Given the description of an element on the screen output the (x, y) to click on. 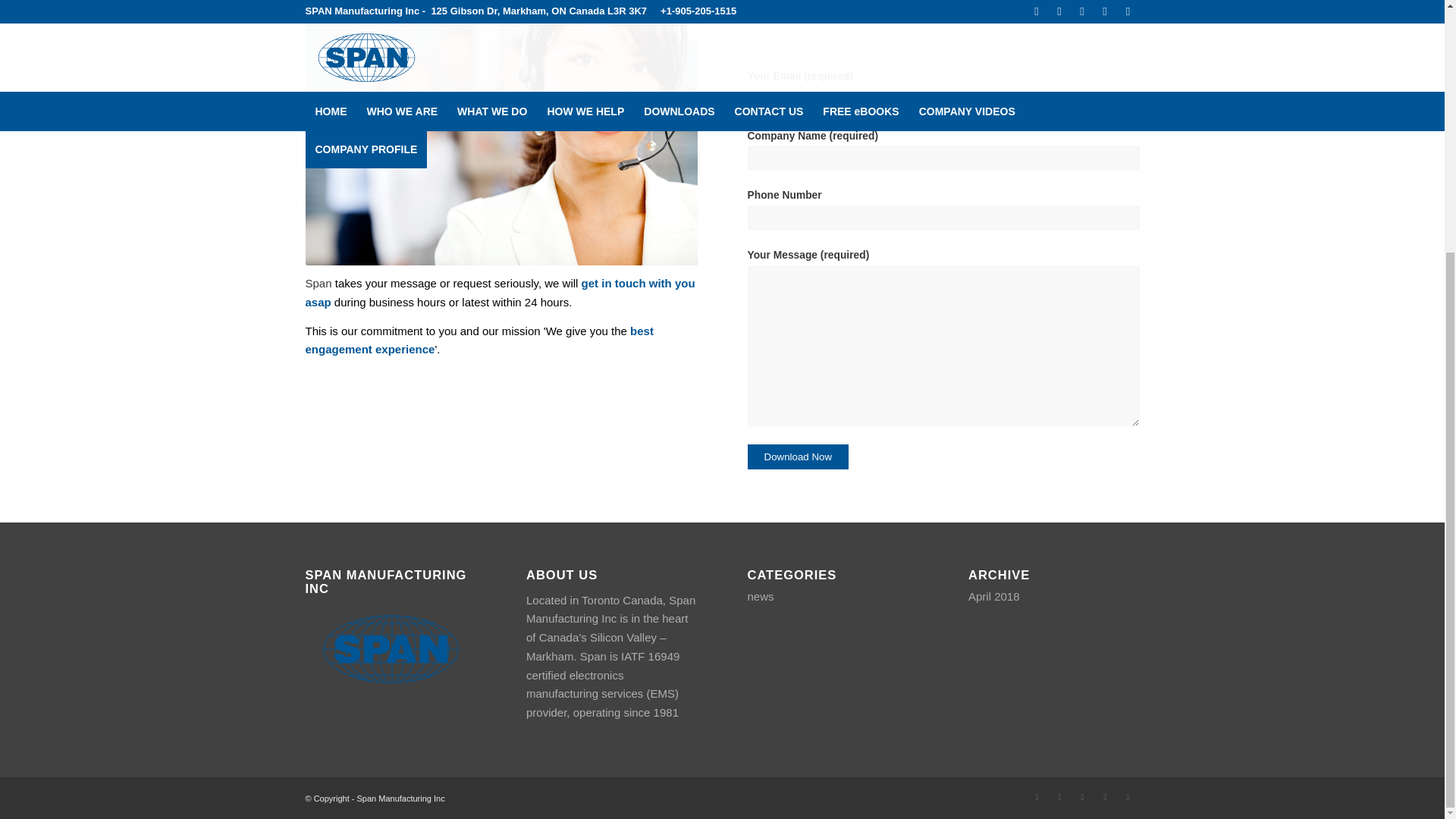
new-1024x700 (500, 132)
Facebook (1036, 796)
Download Now (798, 456)
Twitter (1059, 796)
